Given the description of an element on the screen output the (x, y) to click on. 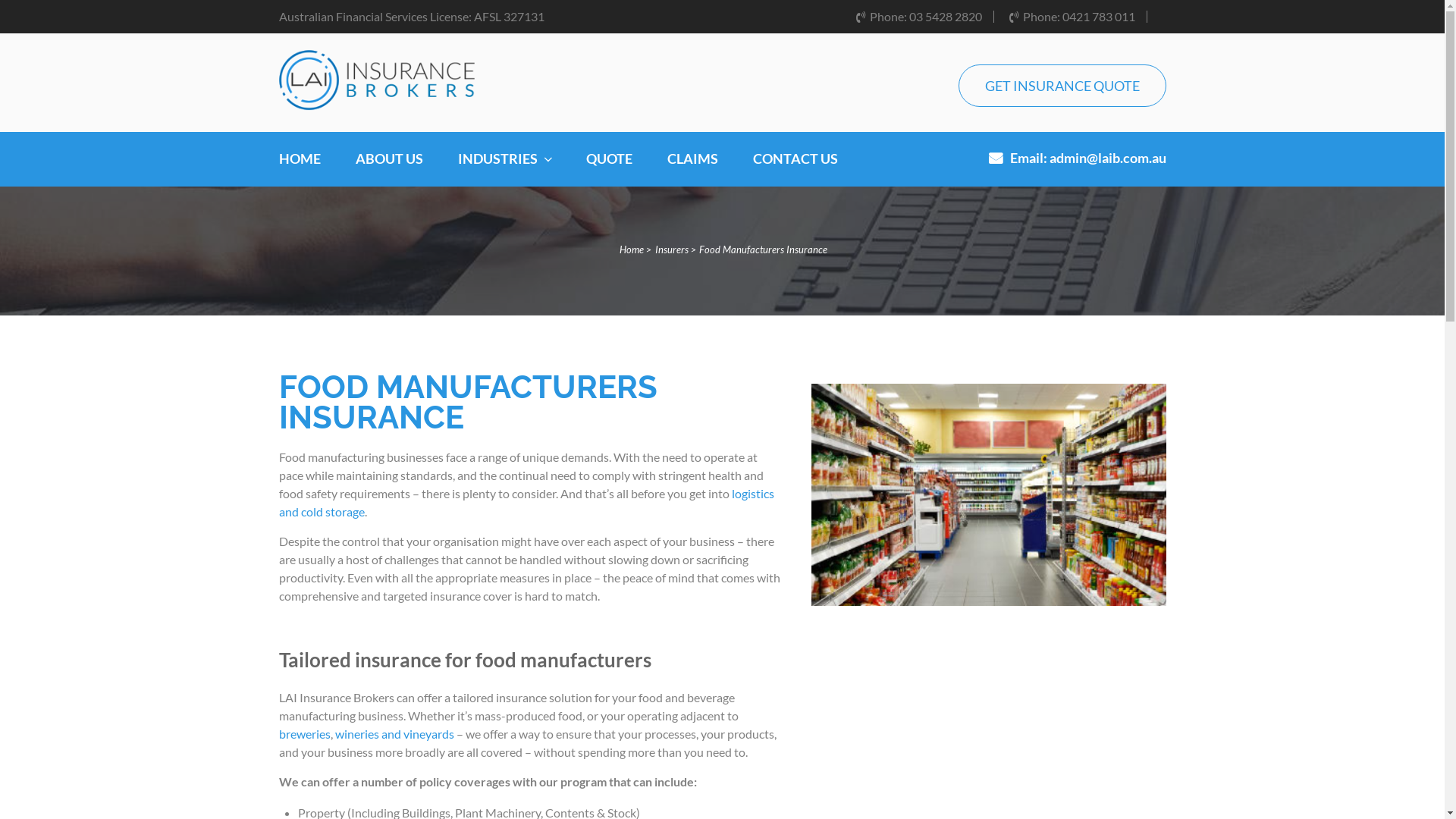
CONTACT US Element type: text (794, 167)
Phone: 03 5428 2820 Element type: text (918, 16)
logistics and cold storage Element type: text (526, 502)
HOME Element type: text (299, 167)
ABOUT US Element type: text (388, 167)
Insurers Element type: text (671, 249)
INDUSTRIES Element type: text (504, 167)
QUOTE Element type: text (608, 167)
breweries Element type: text (304, 733)
wineries and vineyards Element type: text (394, 733)
LAI INSURANCE BROKERS Element type: text (470, 67)
GET INSURANCE QUOTE Element type: text (1062, 85)
Email: admin@laib.com.au Element type: text (1077, 166)
CLAIMS Element type: text (692, 167)
Phone: 0421 783 011 Element type: text (1071, 16)
Home Element type: text (630, 249)
